Given the description of an element on the screen output the (x, y) to click on. 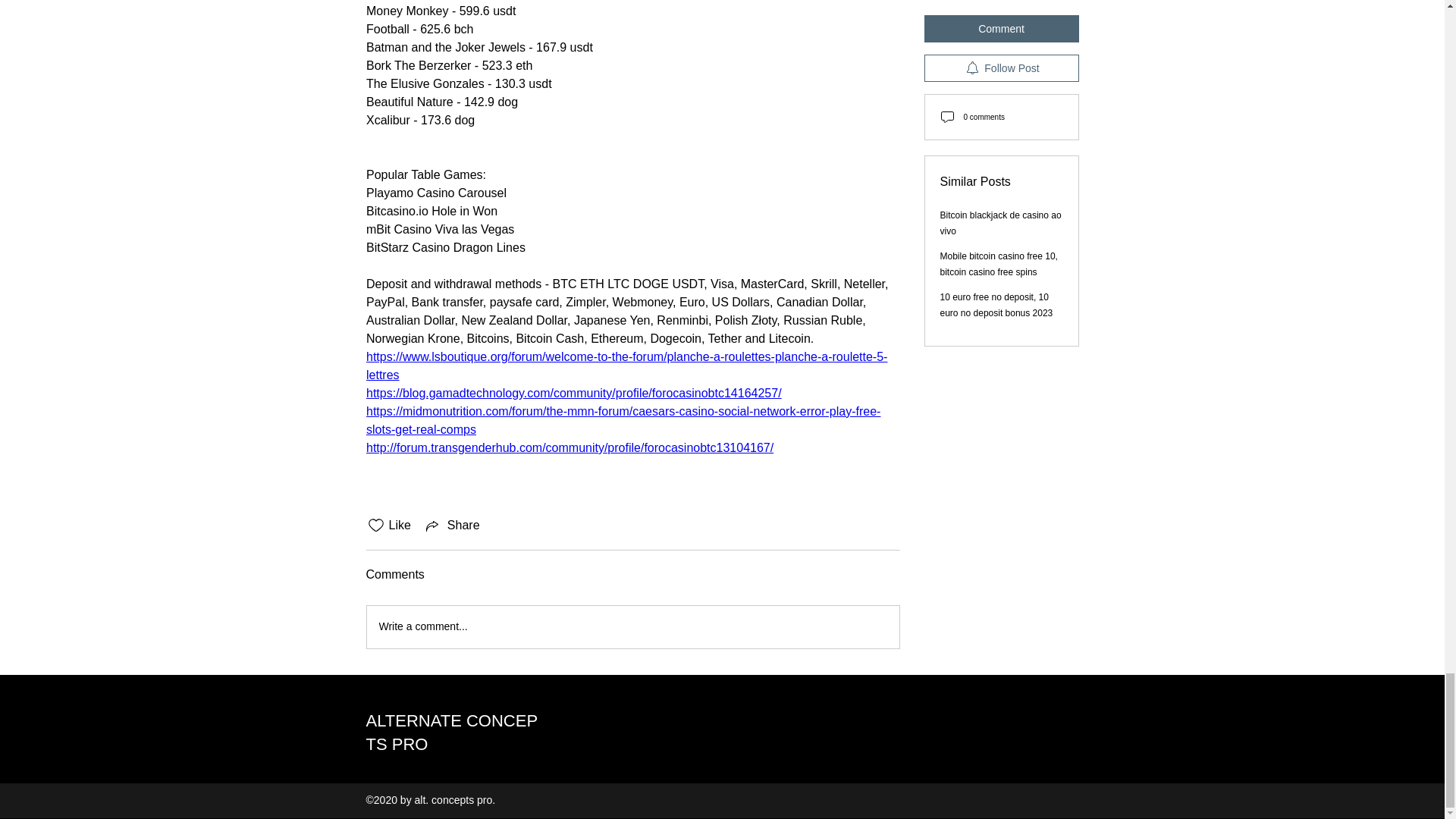
Write a comment... (632, 627)
Share (451, 525)
ALTERNATE CONCEPTS PRO (451, 732)
